Given the description of an element on the screen output the (x, y) to click on. 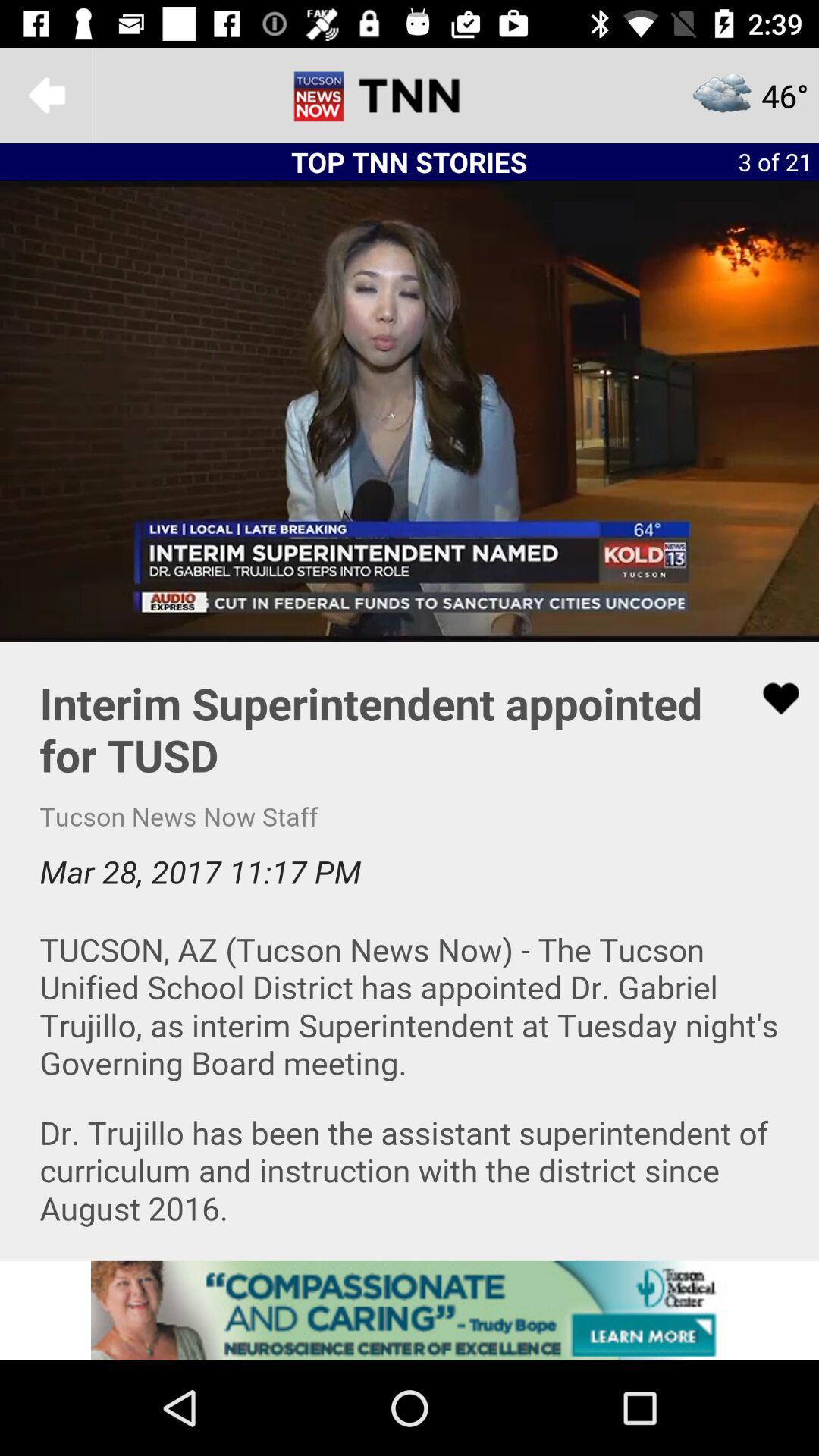
open advertisement (409, 1310)
